Given the description of an element on the screen output the (x, y) to click on. 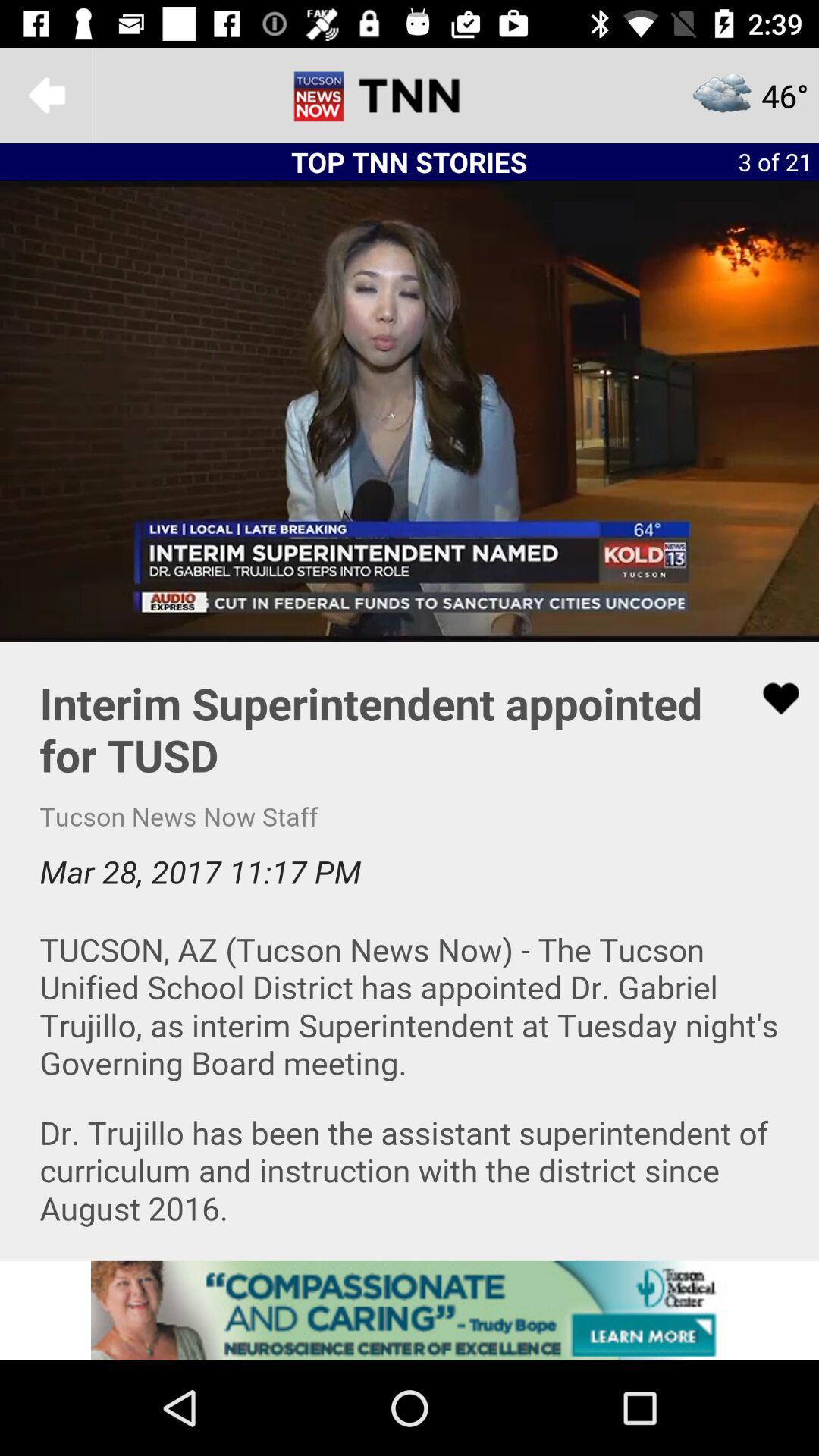
open advertisement (409, 1310)
